Given the description of an element on the screen output the (x, y) to click on. 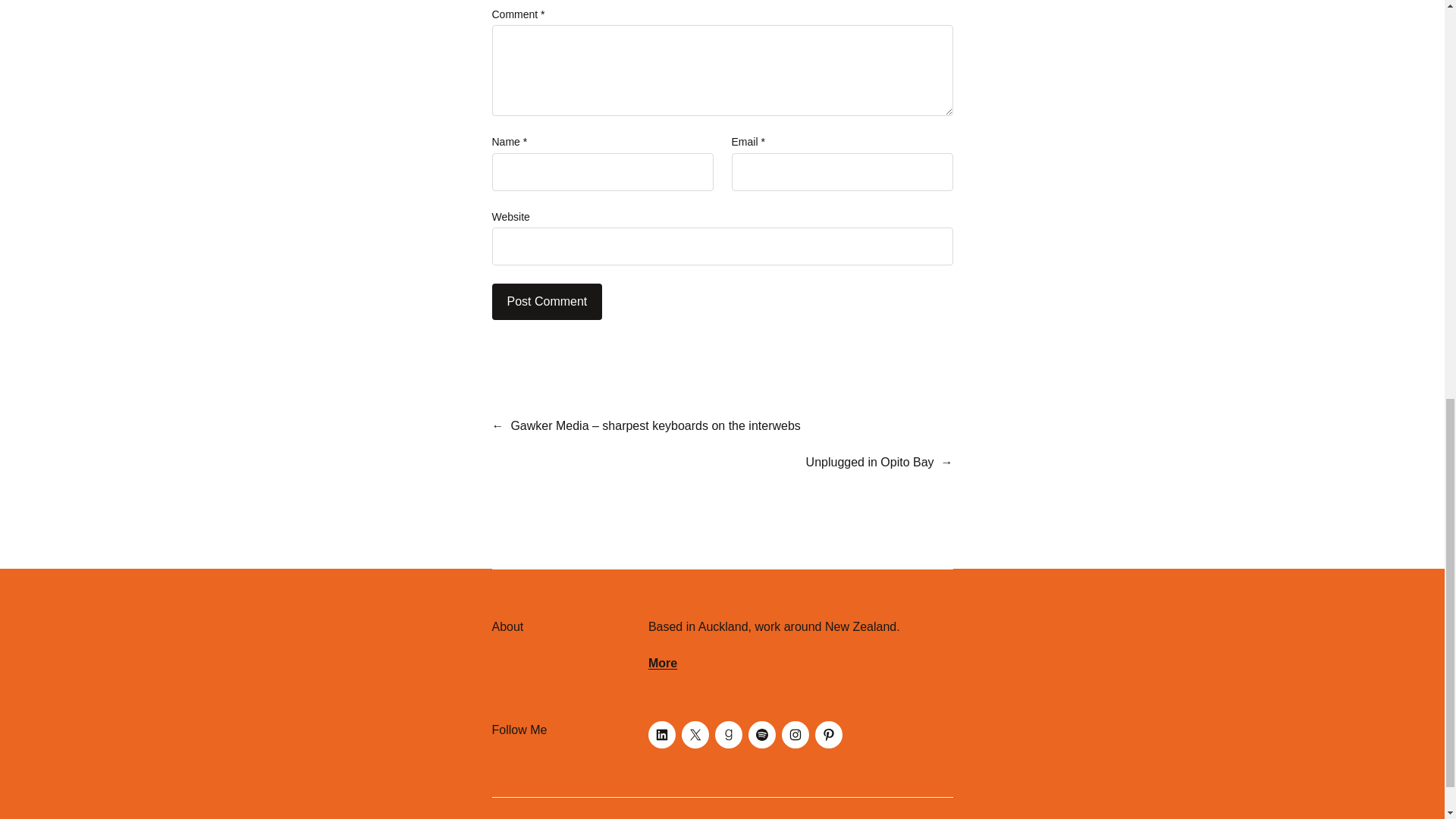
Spotify (762, 734)
Instagram (795, 734)
More (662, 662)
Post Comment (547, 301)
Goodreads (728, 734)
LinkedIn (661, 734)
Pinterest (829, 734)
X (695, 734)
Post Comment (547, 301)
Unplugged in Opito Bay (870, 461)
